Given the description of an element on the screen output the (x, y) to click on. 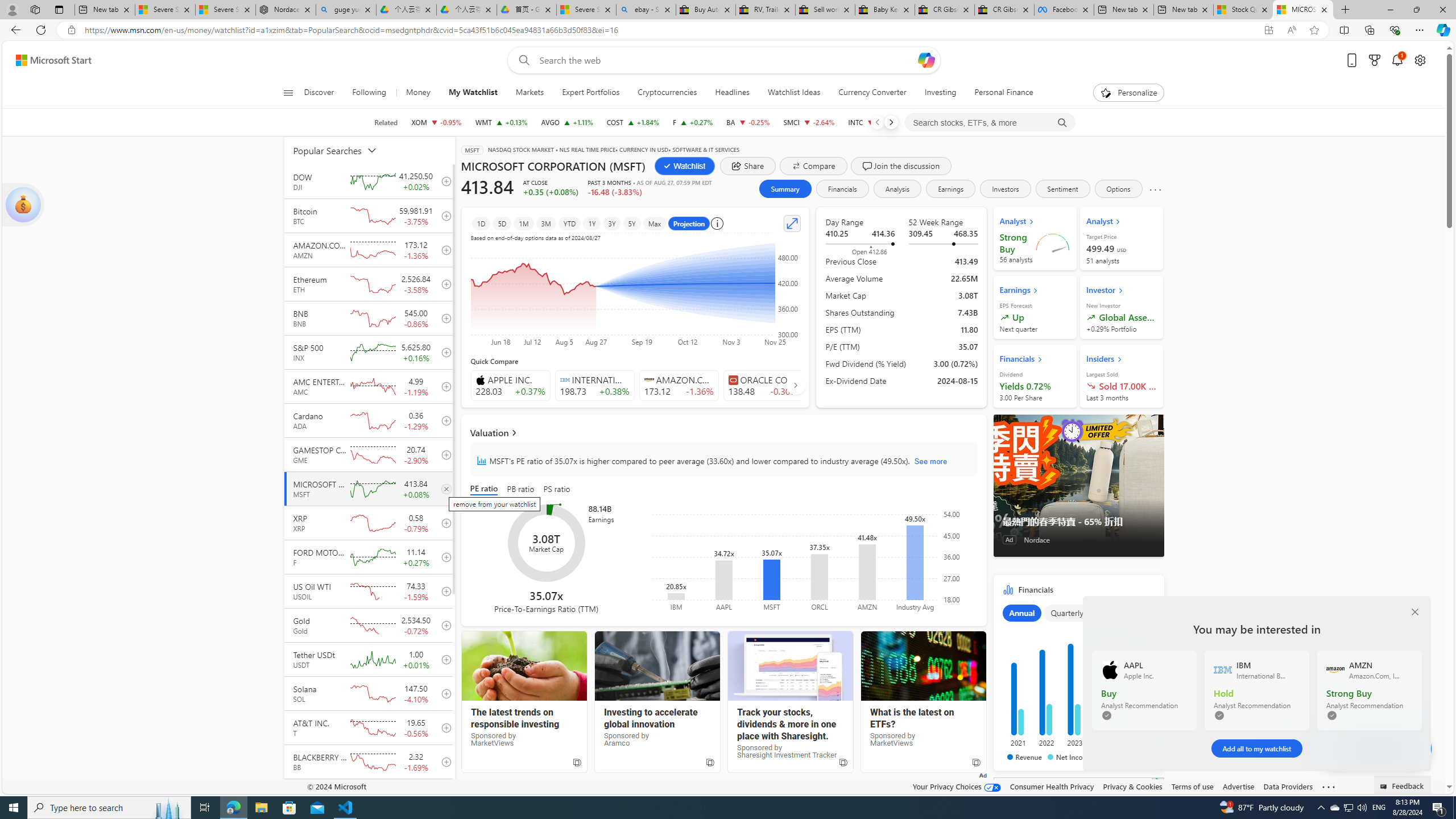
5Y (631, 223)
BA THE BOEING COMPANY decrease 173.05 -0.43 -0.25% (748, 122)
PB ratio (520, 489)
Open navigation menu (287, 92)
AutomationID: finance_carousel_navi_right (794, 384)
Privacy & Cookies (1131, 786)
Consumer Health Privacy (1051, 785)
Quarterly (1066, 612)
Class: oneFooter_seeMore-DS-EntryPoint1-1 (1328, 786)
